Given the description of an element on the screen output the (x, y) to click on. 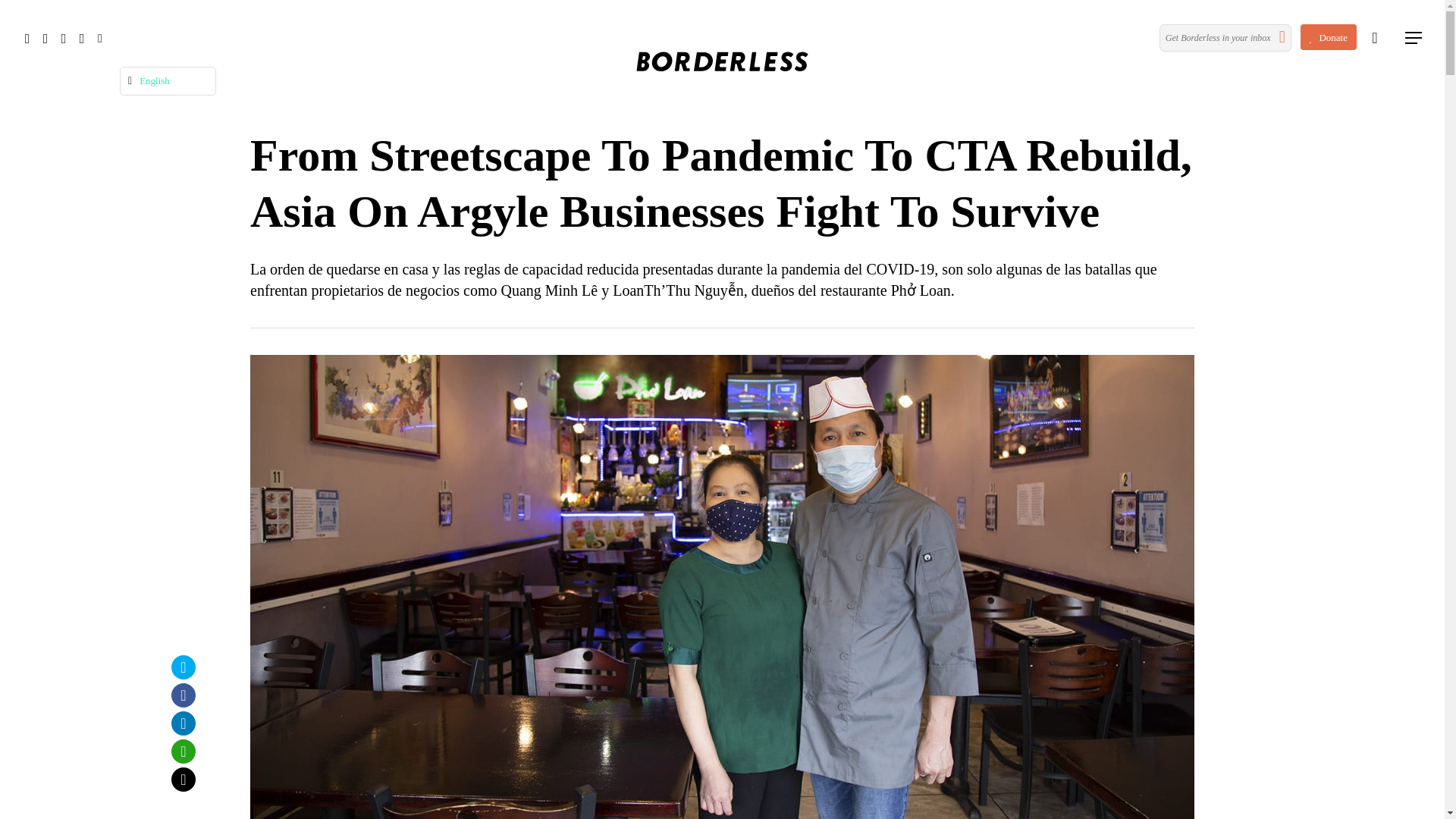
 Donate (1328, 37)
instagram (81, 37)
facebook (45, 37)
search (1374, 37)
youtube (63, 37)
twitter (26, 37)
tiktok (99, 37)
Menu (1414, 37)
